Given the description of an element on the screen output the (x, y) to click on. 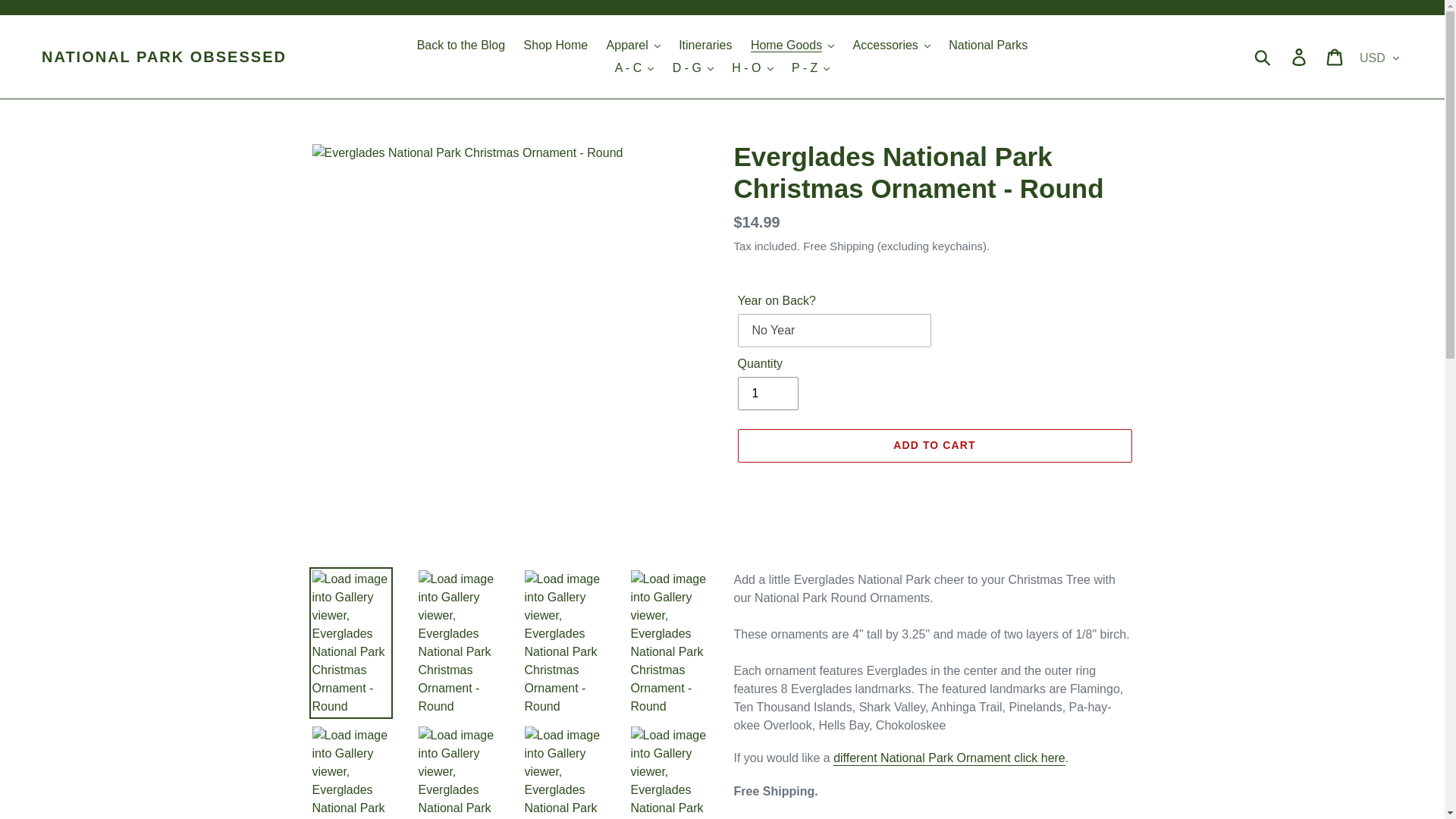
1 (766, 393)
Back to the Blog (461, 45)
Itineraries (705, 45)
NATIONAL PARK OBSESSED (164, 56)
Shop Home (555, 45)
National Park Round Oranment (948, 758)
